Given the description of an element on the screen output the (x, y) to click on. 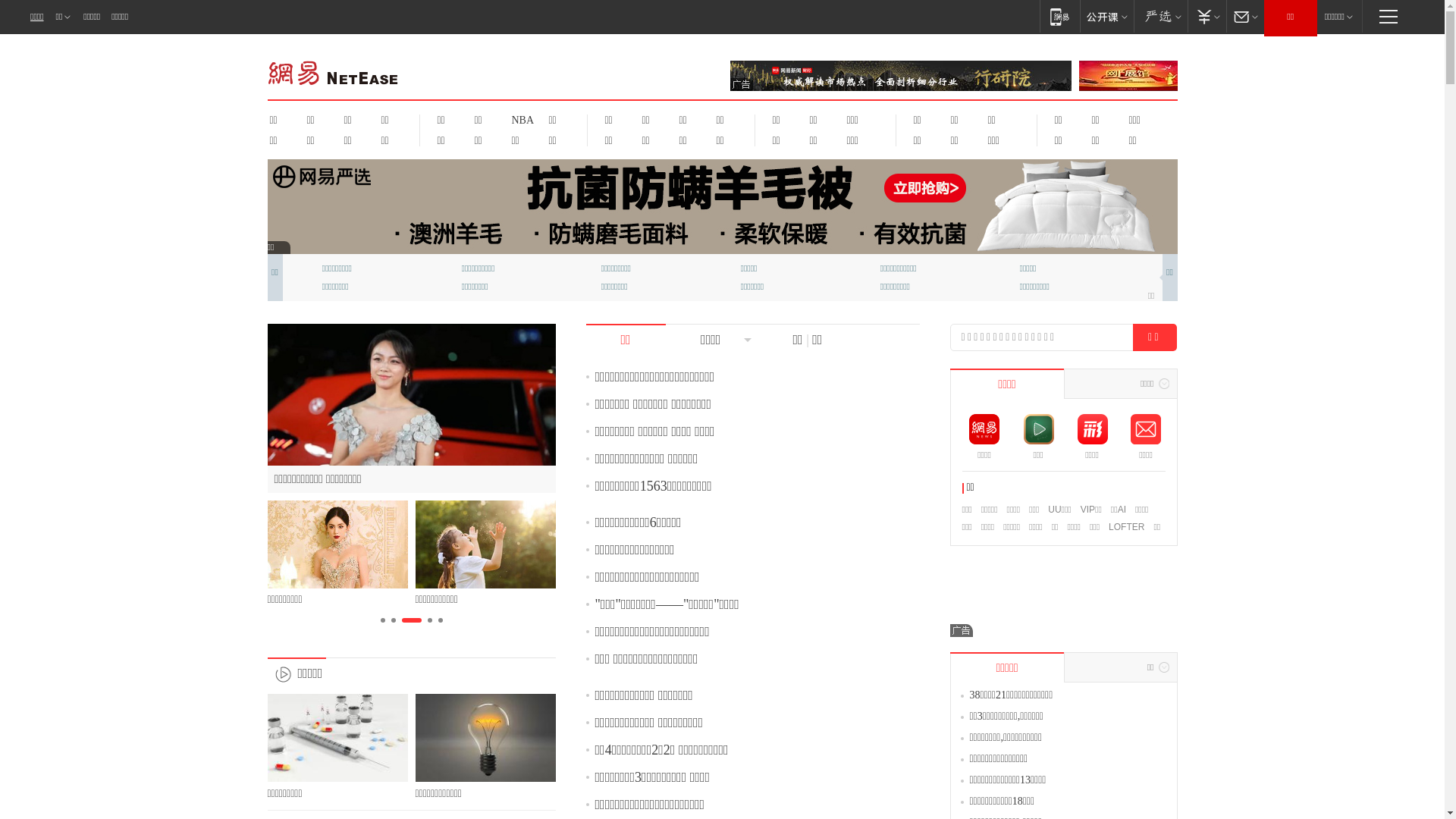
NBA Element type: text (520, 119)
LOFTER Element type: text (1126, 526)
